Given the description of an element on the screen output the (x, y) to click on. 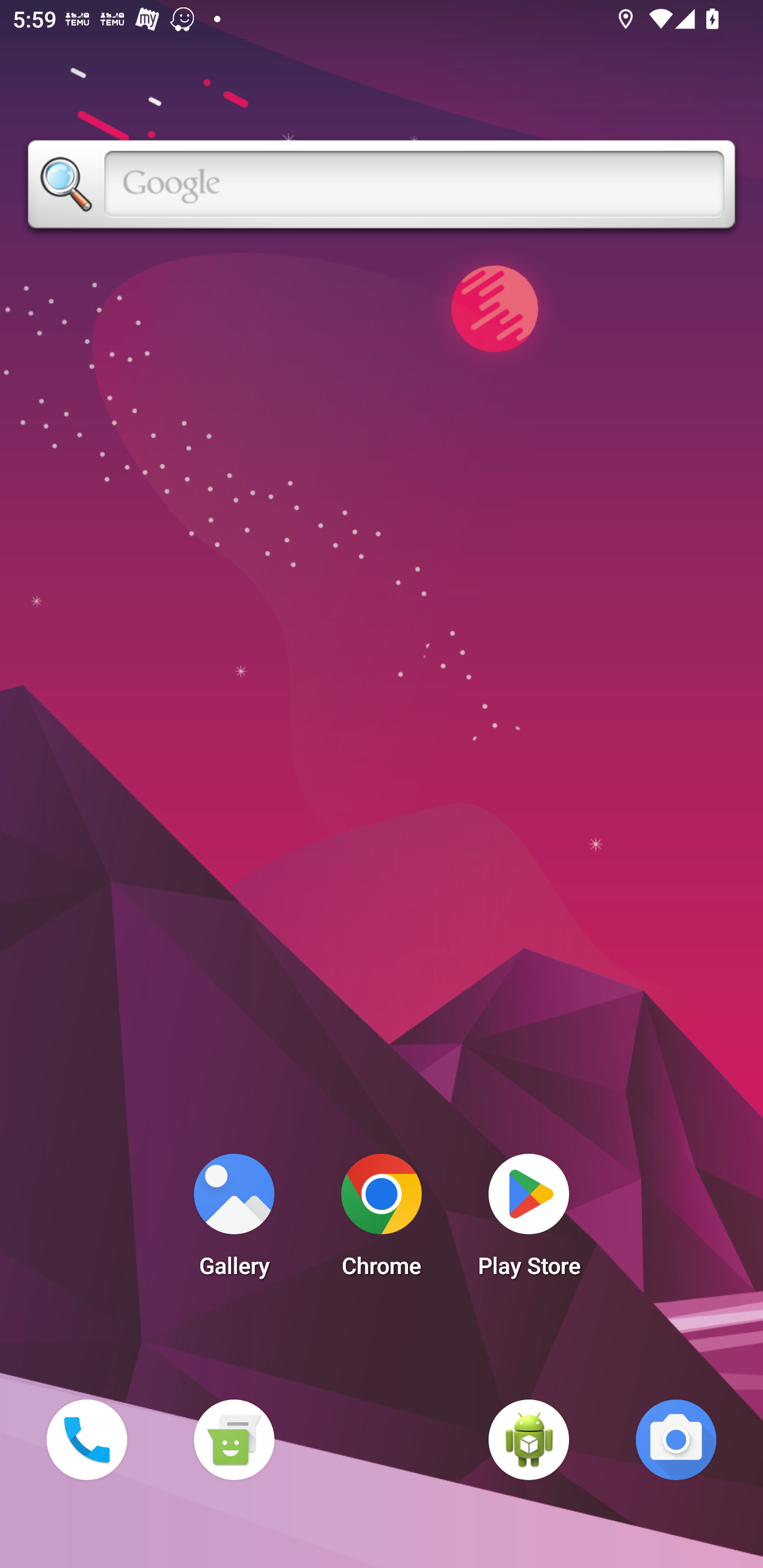
Gallery (233, 1220)
Chrome (381, 1220)
Play Store (528, 1220)
Phone (86, 1439)
Messaging (233, 1439)
WebView Browser Tester (528, 1439)
Camera (676, 1439)
